Given the description of an element on the screen output the (x, y) to click on. 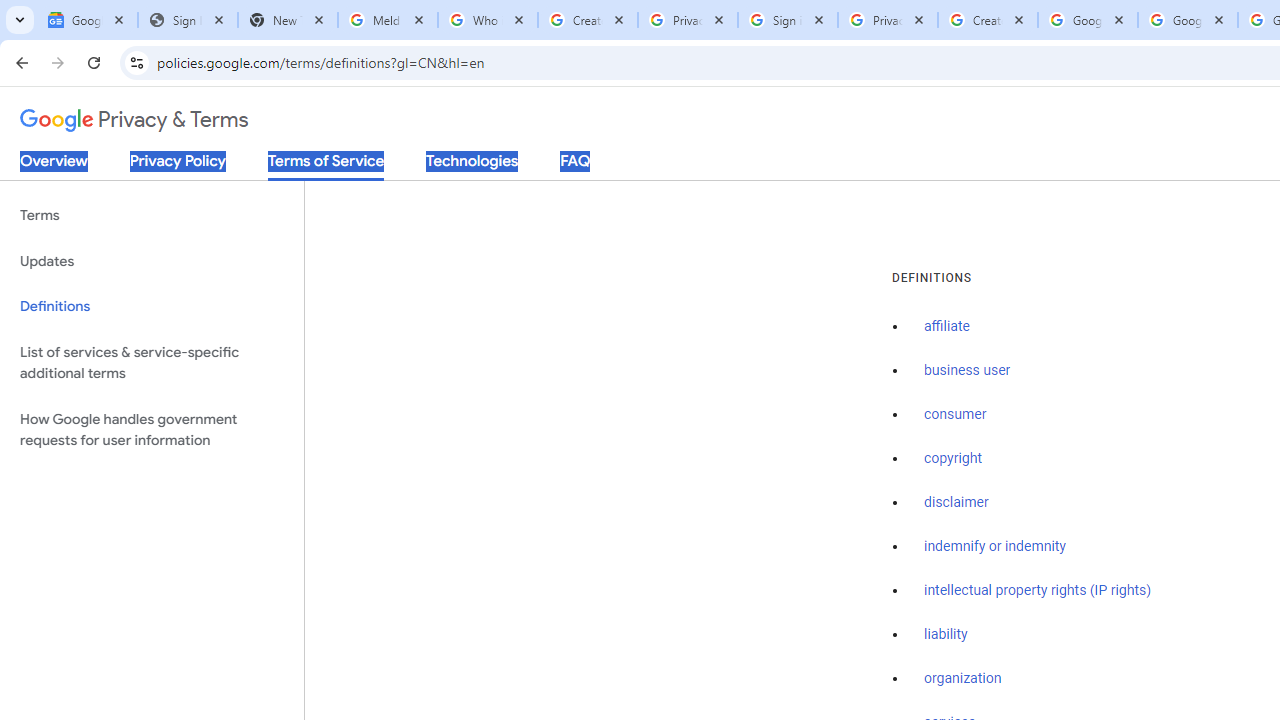
List of services & service-specific additional terms (152, 362)
organization (963, 679)
New Tab (287, 20)
affiliate (947, 327)
